Given the description of an element on the screen output the (x, y) to click on. 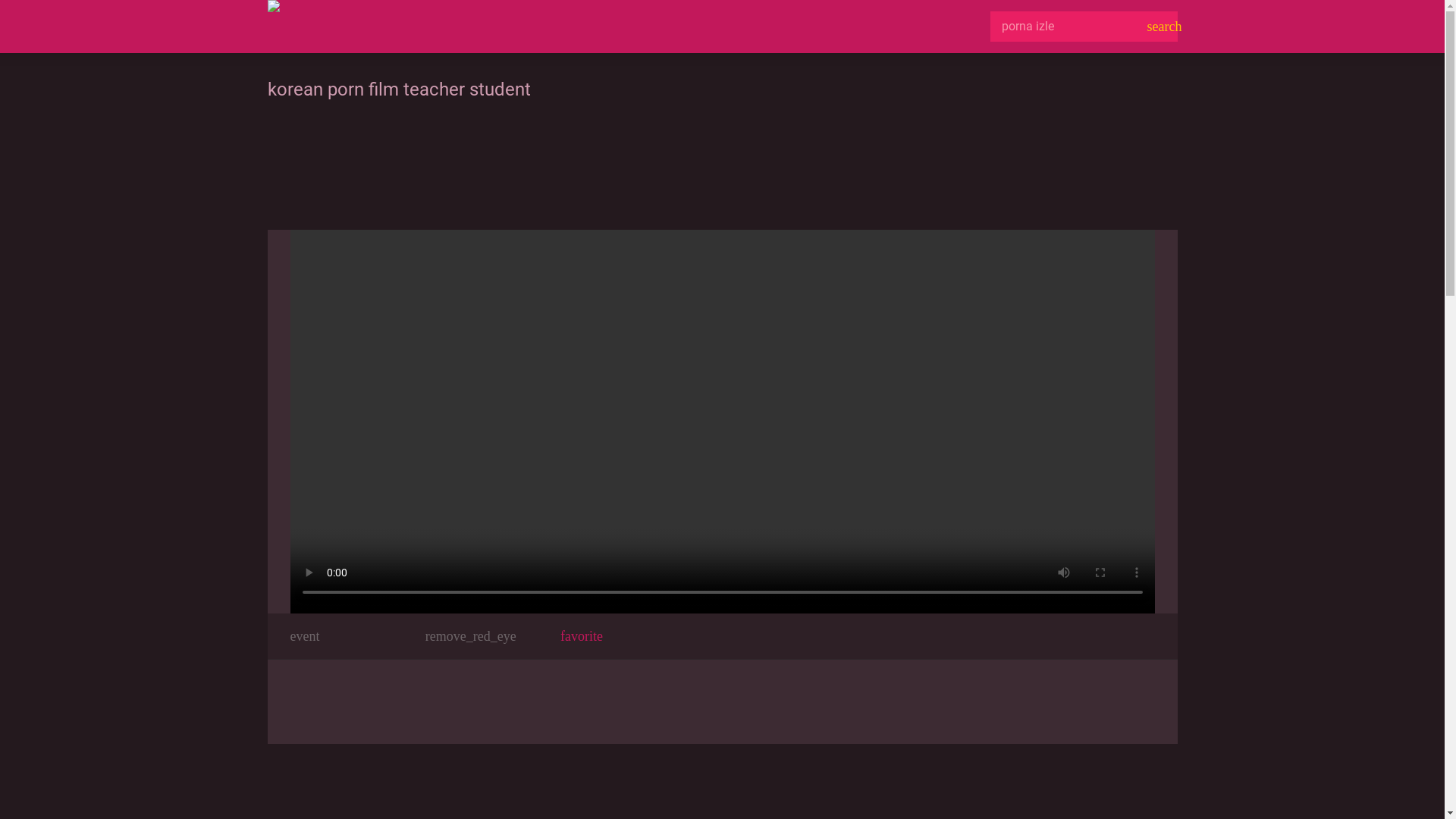
korean porn film teacher student Element type: hover (721, 418)
